Given the description of an element on the screen output the (x, y) to click on. 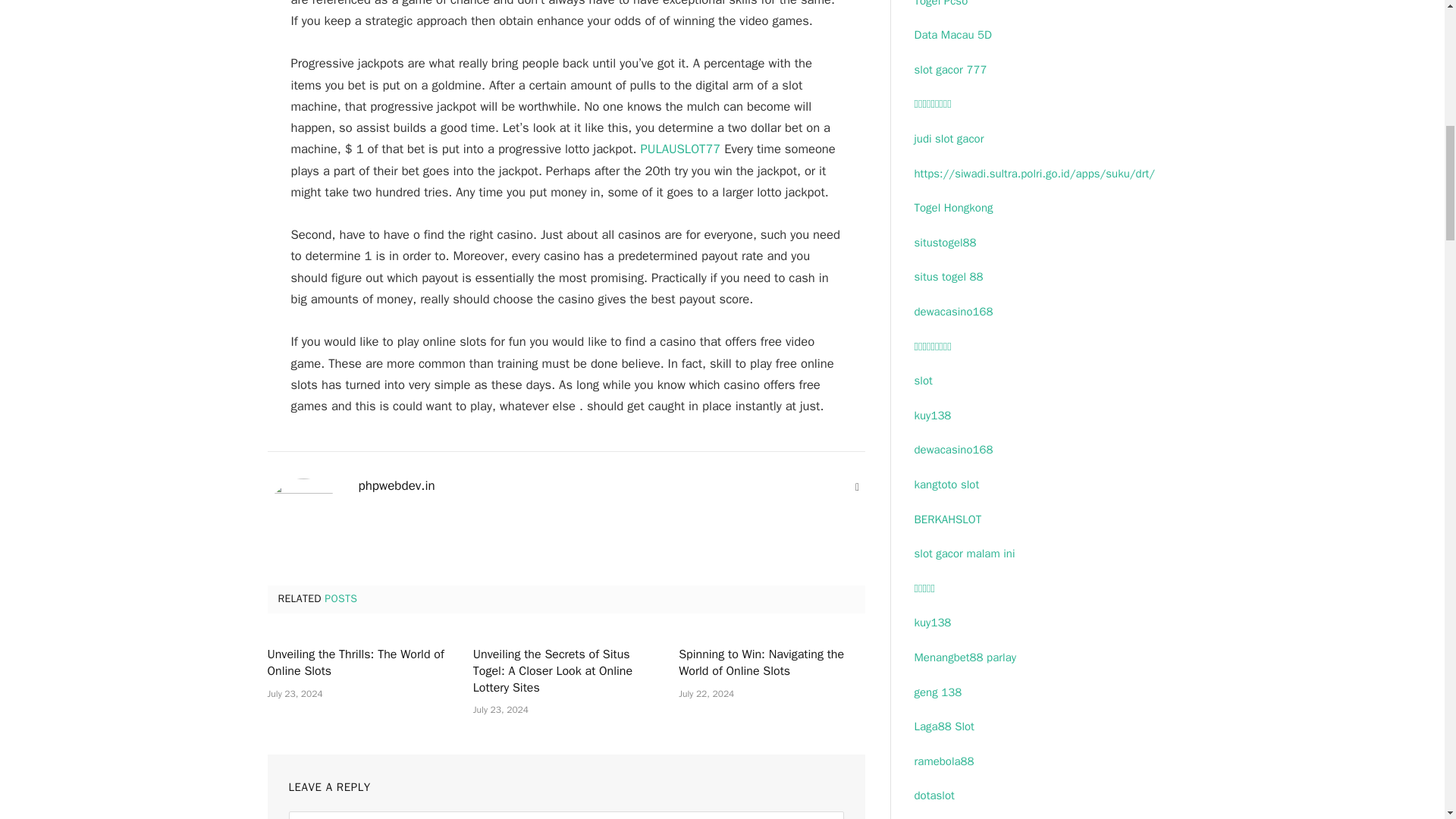
phpwebdev.in (395, 485)
Unveiling the Thrills: The World of Online Slots (359, 663)
PULAUSLOT77 (680, 148)
Website (856, 487)
Website (856, 487)
Posts by phpwebdev.in (395, 485)
